Given the description of an element on the screen output the (x, y) to click on. 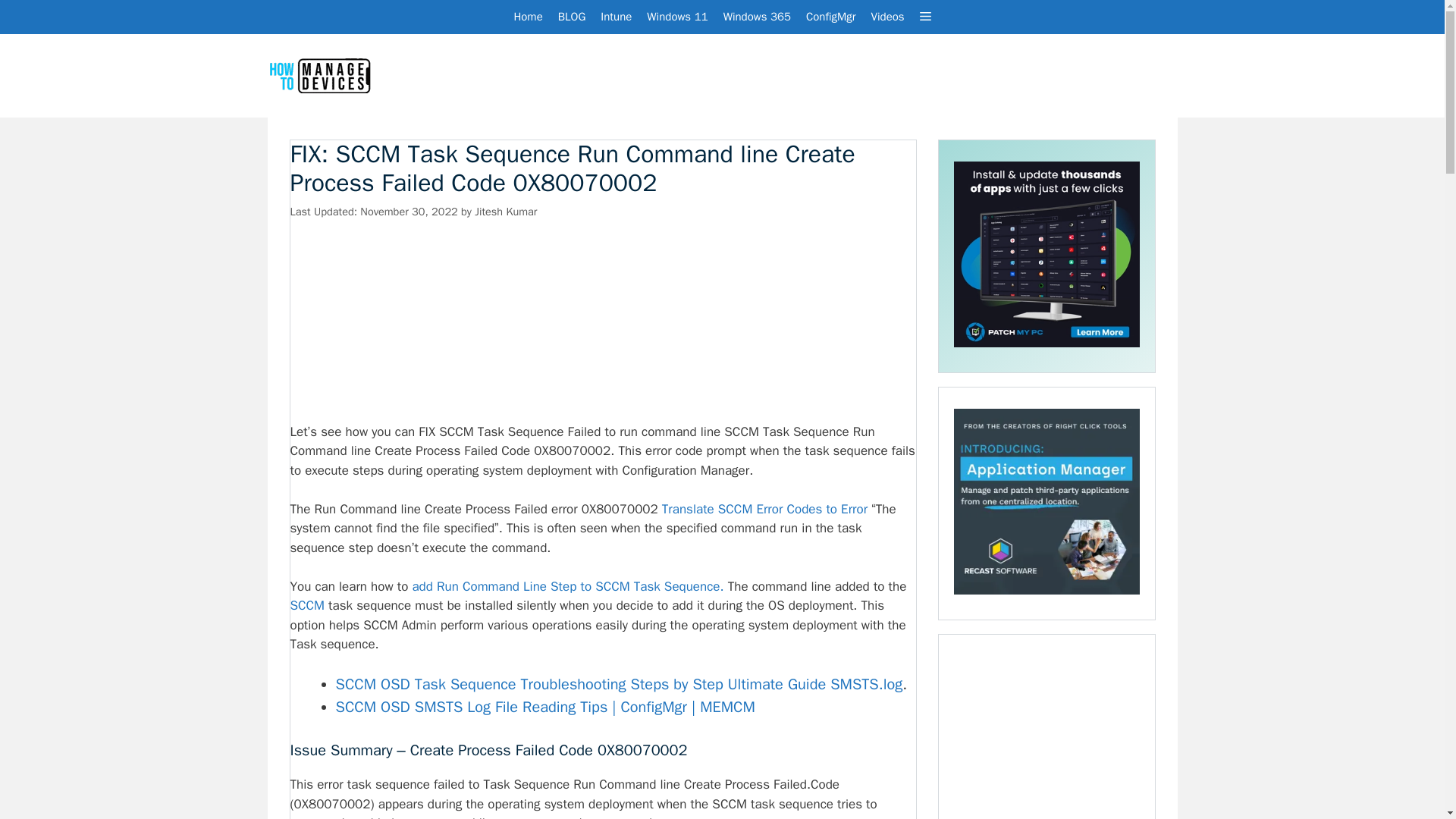
BLOG (572, 17)
Windows 365 (756, 17)
Jitesh Kumar (505, 211)
SCCM (306, 605)
Windows 11 (676, 17)
Videos (887, 17)
View all posts by Jitesh Kumar (505, 211)
Microsoft Endpoint Manager Configuration Manager (830, 17)
Intune (615, 17)
ConfigMgr (830, 17)
Microsoft Endpoint Manager Intune (615, 17)
Home (527, 17)
add Run Command Line Step to SCCM Task Sequence. (567, 586)
Translate SCCM Error Codes to Error (764, 508)
